Given the description of an element on the screen output the (x, y) to click on. 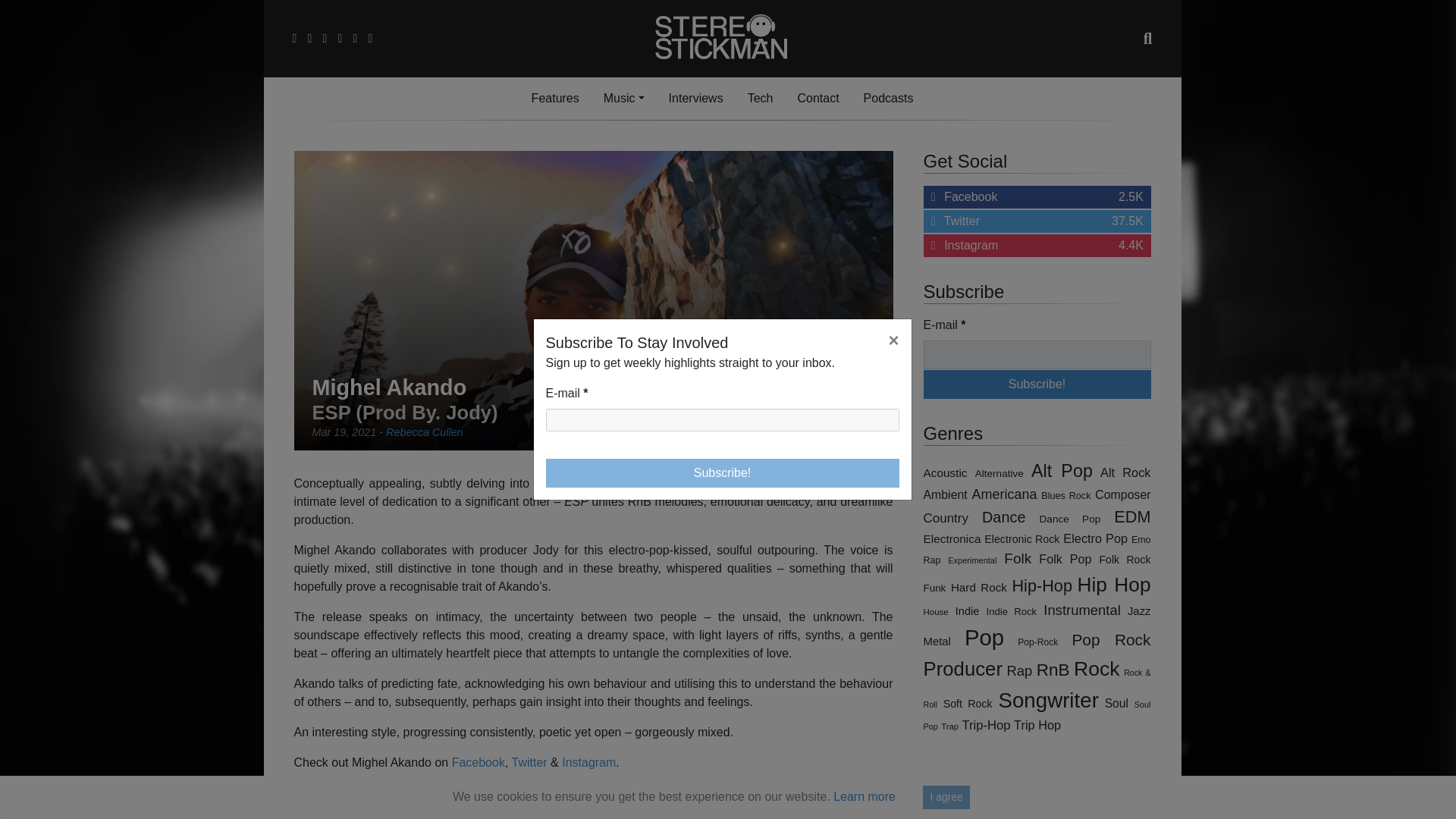
Facebook (478, 762)
Features (555, 98)
Contact (817, 98)
Contact (817, 98)
Twitter (529, 762)
Music (623, 98)
Acoustic (945, 472)
Podcasts (1037, 220)
E-mail (888, 98)
E-mail (722, 419)
Subscribe! (1037, 354)
Interviews (722, 472)
Features (695, 98)
